Given the description of an element on the screen output the (x, y) to click on. 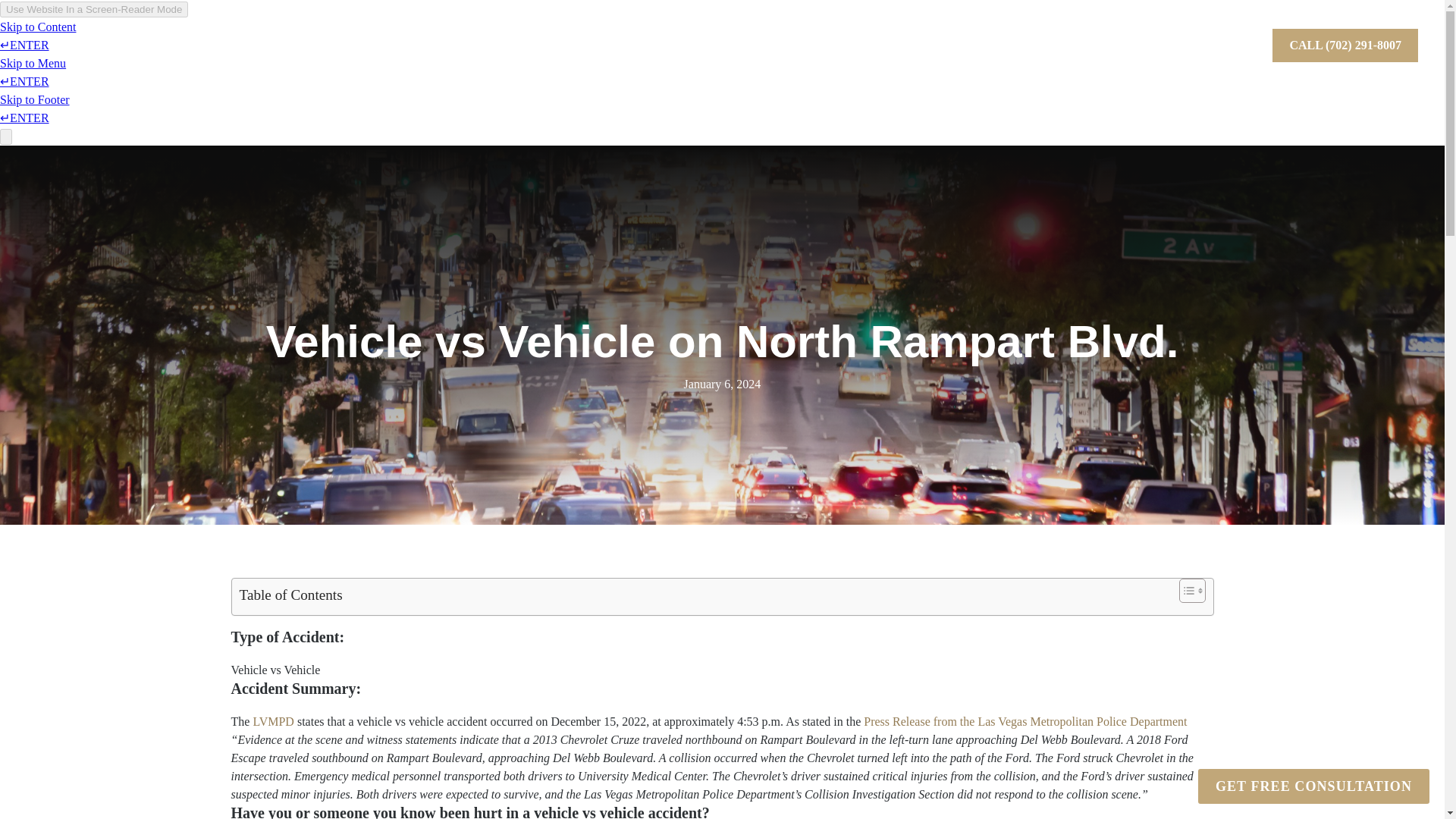
ABOUT US (1135, 39)
ATTORNEYS (1057, 39)
PRACTICE AREAS (862, 39)
CASE RESULTS (968, 39)
